Given the description of an element on the screen output the (x, y) to click on. 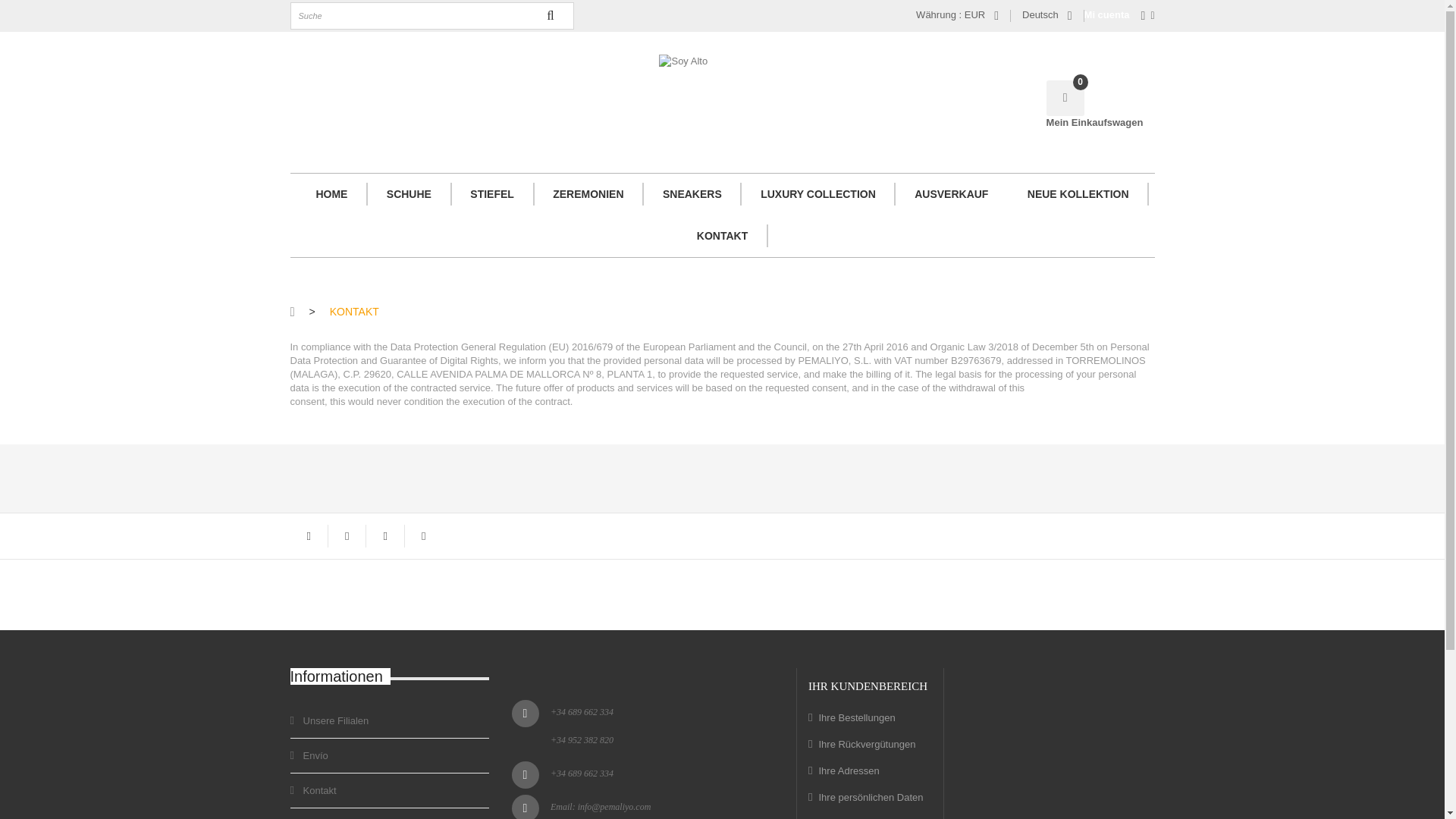
HOME (331, 194)
ZEREMONIEN (588, 194)
SNEAKERS (692, 194)
Soy Alto (722, 88)
Zum Warenkorb (1065, 98)
0 (1065, 98)
STIEFEL (492, 194)
LUXURY COLLECTION (818, 194)
SCHUHE (408, 194)
